Given the description of an element on the screen output the (x, y) to click on. 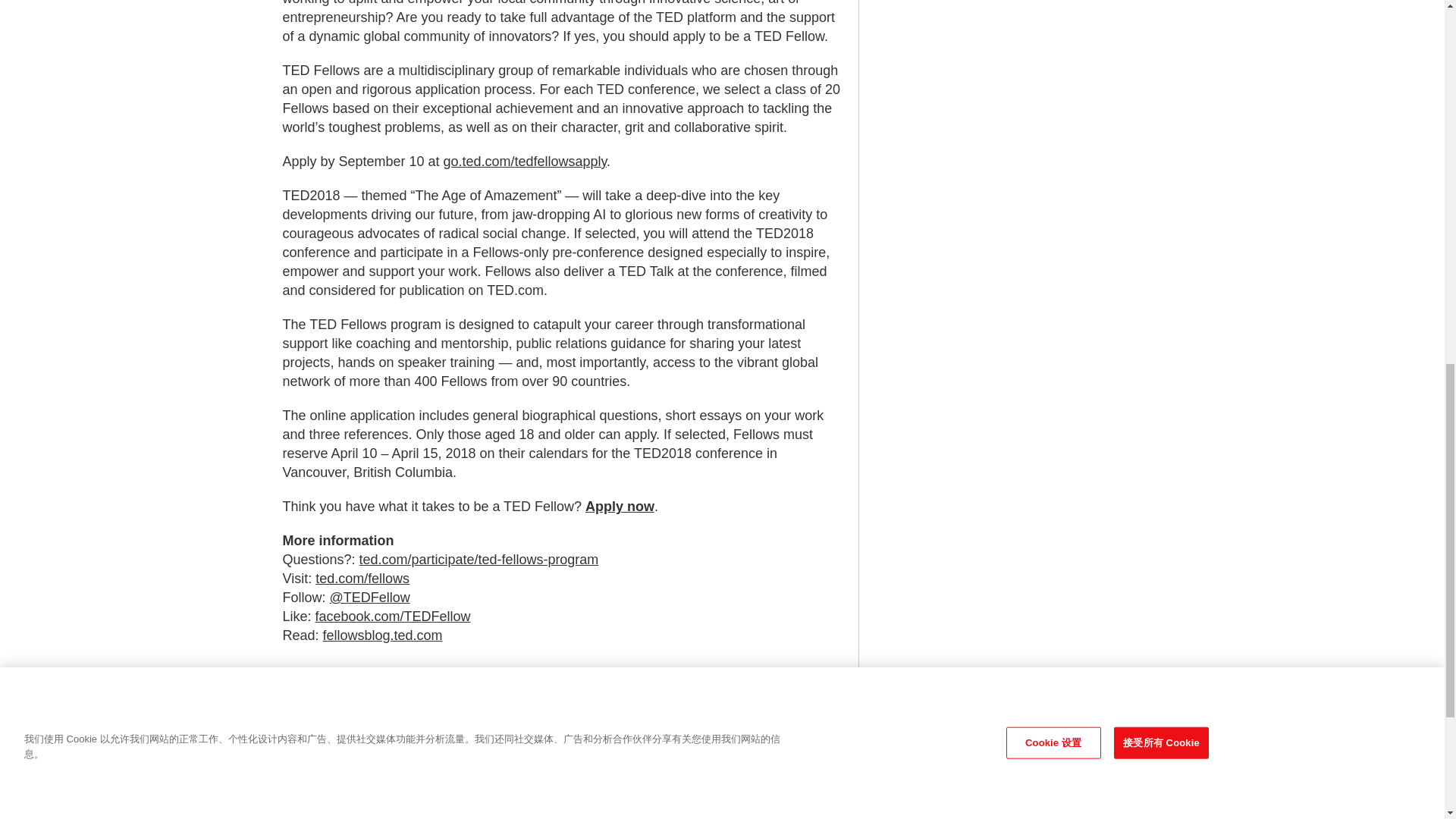
TED2018 (442, 699)
TED Fellows (379, 699)
Apply now (619, 506)
TED Fellow (312, 699)
fellowsblog.ted.com (382, 635)
